Given the description of an element on the screen output the (x, y) to click on. 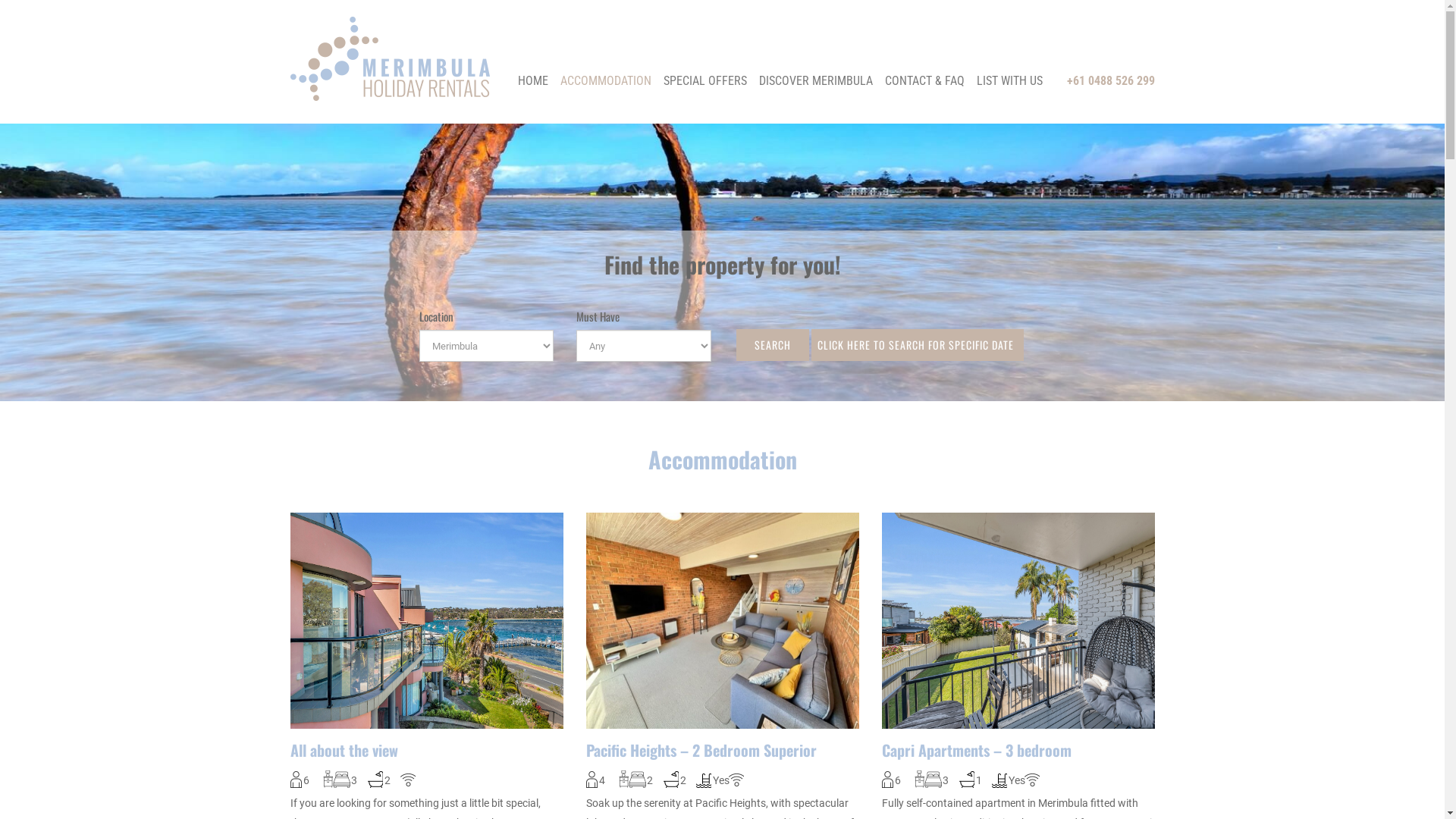
DISCOVER MERIMBULA Element type: text (815, 80)
ACCOMMODATION Element type: text (605, 80)
SPECIAL OFFERS Element type: text (705, 80)
CLICK HERE TO SEARCH FOR SPECIFIC DATE Element type: text (917, 344)
LIST WITH US Element type: text (1009, 80)
+61 0488 526 299 Element type: text (1110, 80)
HOME Element type: text (532, 80)
CONTACT & FAQ Element type: text (924, 80)
SEARCH Element type: text (771, 344)
All about the view Element type: text (425, 749)
